Given the description of an element on the screen output the (x, y) to click on. 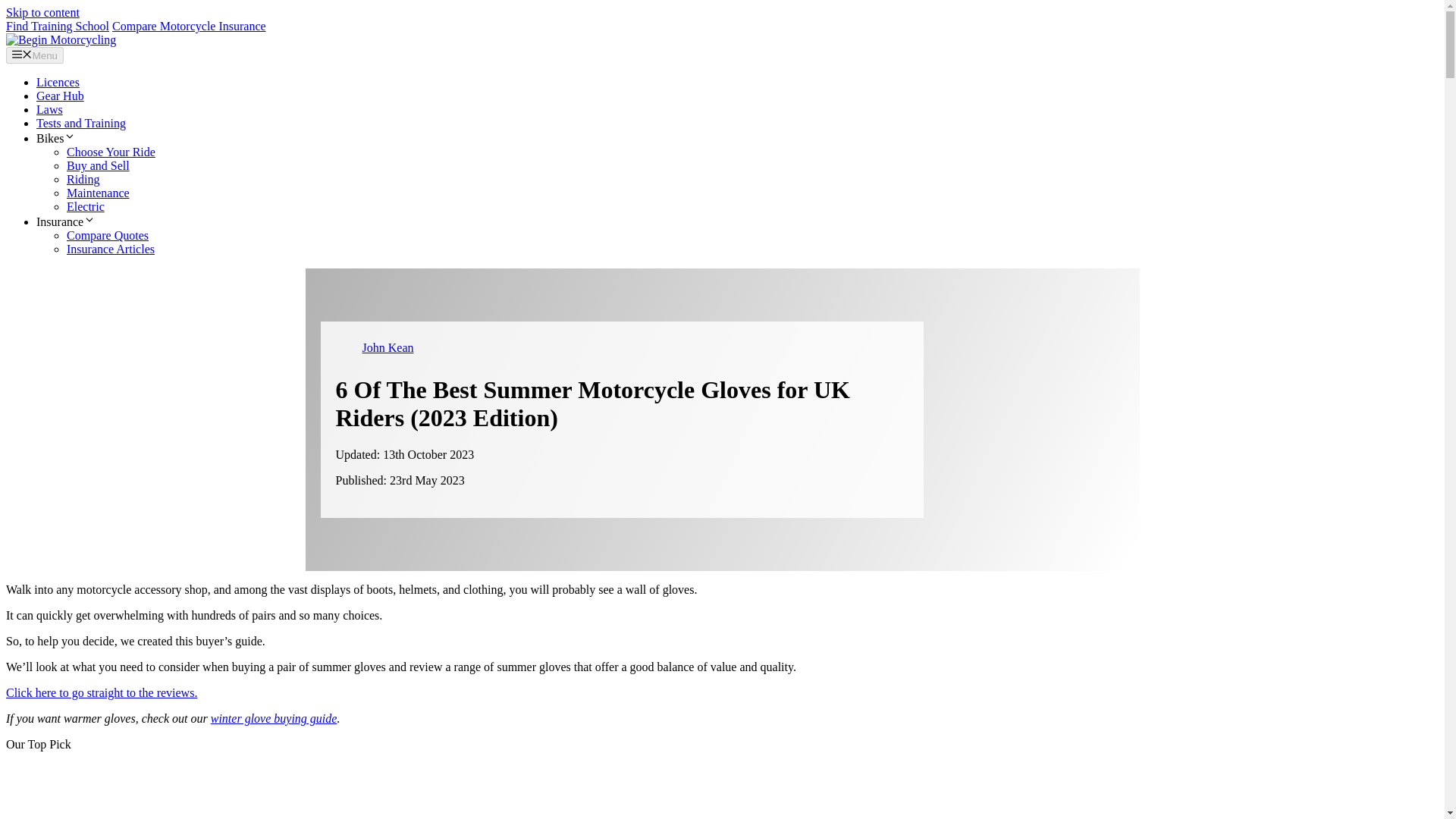
Electric (85, 205)
Laws (49, 109)
John Kean (387, 347)
Choose Your Ride (110, 151)
Skip to content (42, 11)
Bikes (55, 137)
Gear Hub (60, 95)
winter glove buying guide (274, 717)
Maintenance (97, 192)
Insurance (66, 221)
Buy and Sell (97, 164)
Compare Quotes (107, 235)
Compare Motorcycle Insurance (189, 25)
Menu (34, 54)
Riding (83, 178)
